Given the description of an element on the screen output the (x, y) to click on. 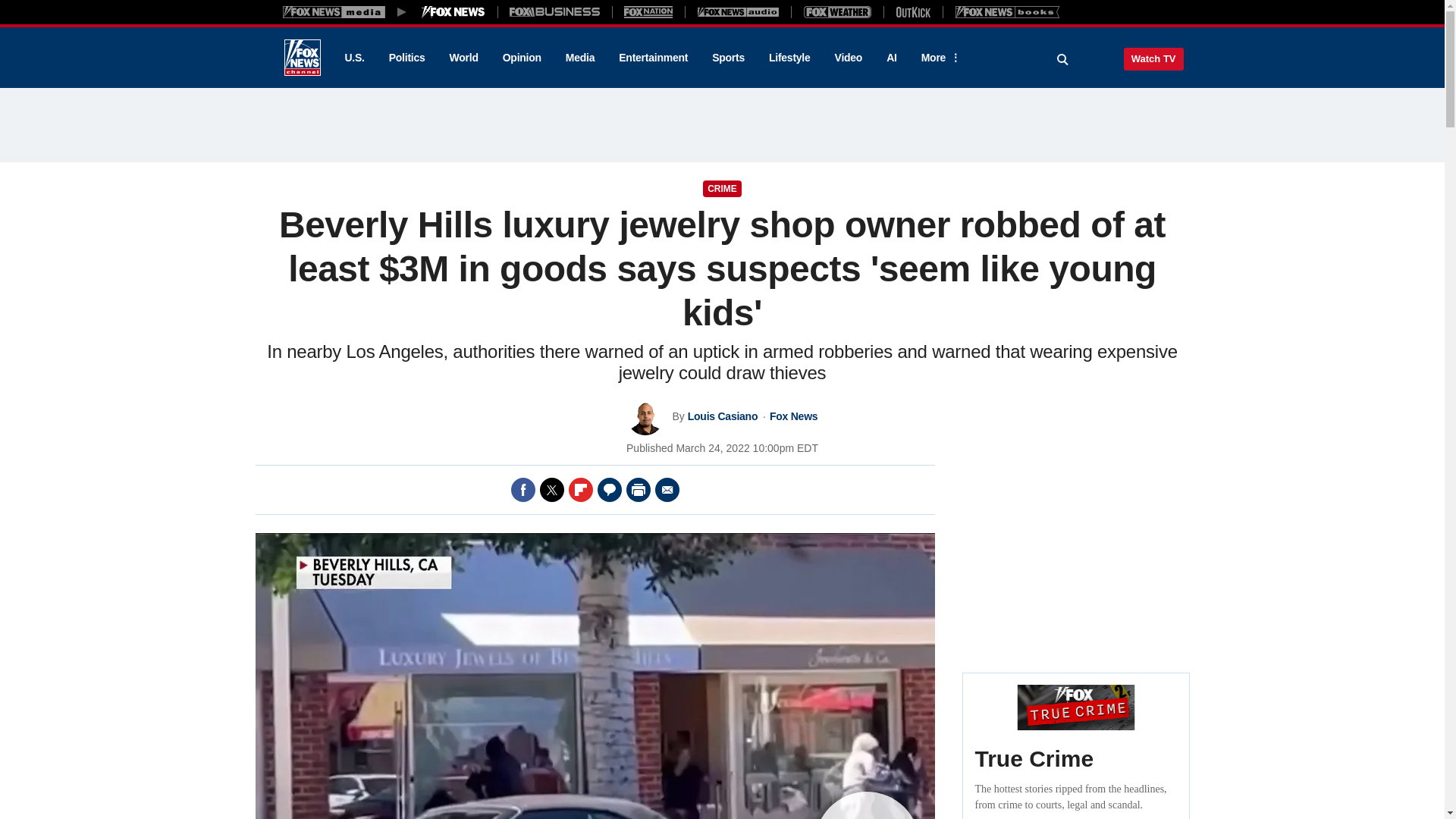
Opinion (521, 57)
Entertainment (653, 57)
Sports (728, 57)
Fox Business (554, 11)
Fox Weather (836, 11)
Outkick (912, 11)
Video (848, 57)
Fox News (301, 57)
More (938, 57)
Lifestyle (789, 57)
World (464, 57)
Books (1007, 11)
Politics (407, 57)
AI (891, 57)
Fox News Media (453, 11)
